Given the description of an element on the screen output the (x, y) to click on. 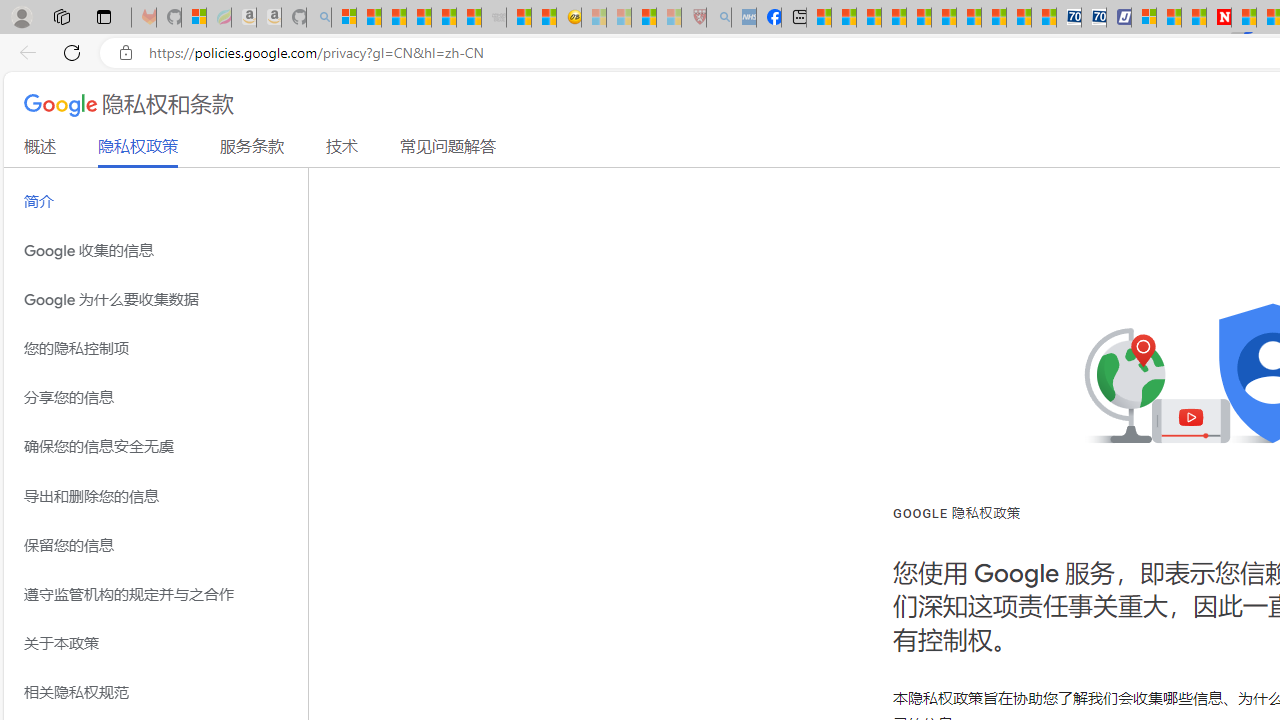
Cheap Car Rentals - Save70.com (1069, 17)
The Weather Channel - MSN (393, 17)
Newsweek - News, Analysis, Politics, Business, Technology (1219, 17)
Climate Damage Becomes Too Severe To Reverse (893, 17)
